Given the description of an element on the screen output the (x, y) to click on. 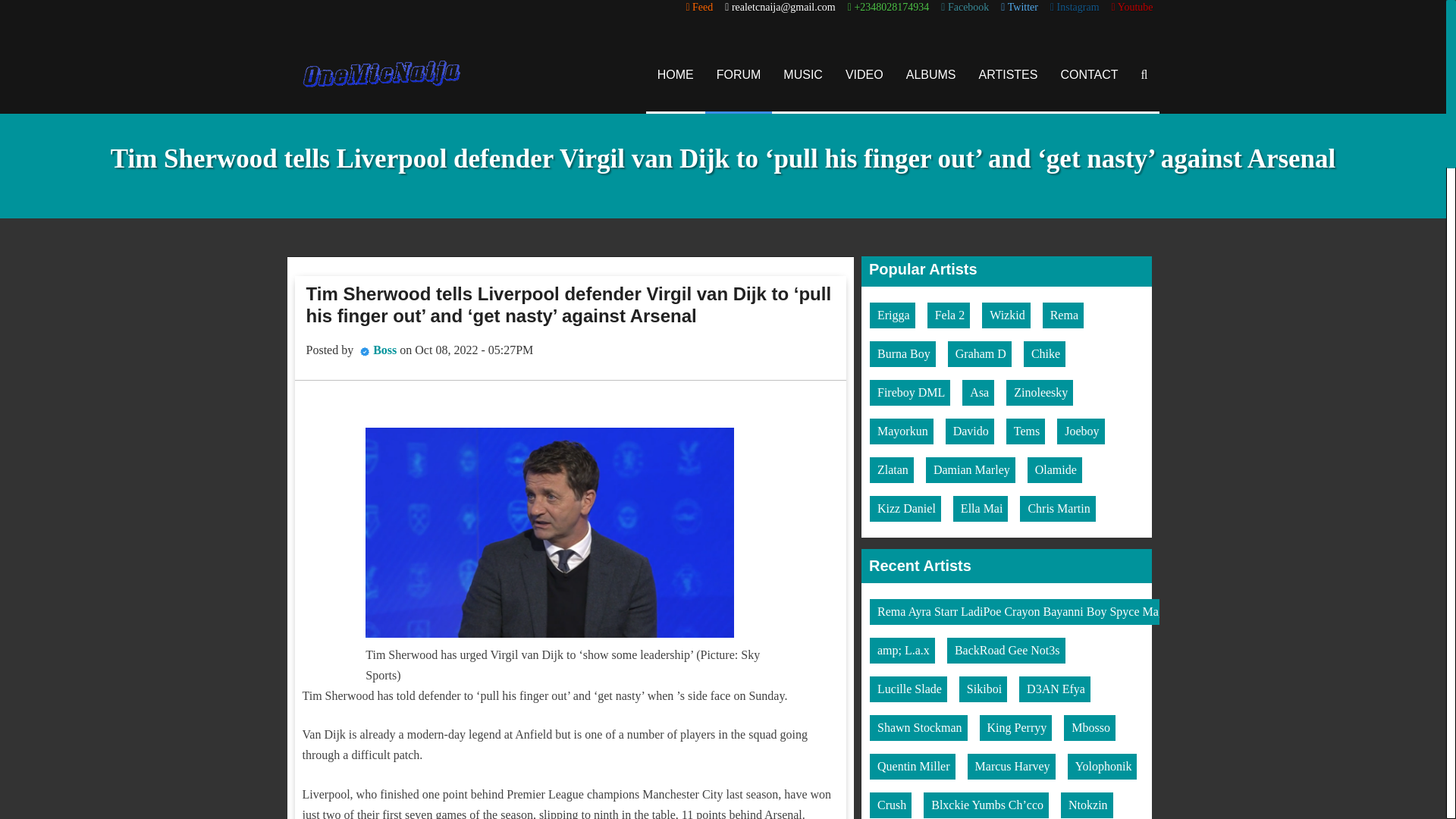
CONTACT (1088, 74)
Feed (699, 7)
FORUM (738, 74)
ALBUMS (931, 74)
Boss (384, 349)
Twitter (1019, 7)
Facebook (964, 7)
Instagram (1074, 7)
ARTISTES (1008, 74)
Youtube (1132, 7)
